Given the description of an element on the screen output the (x, y) to click on. 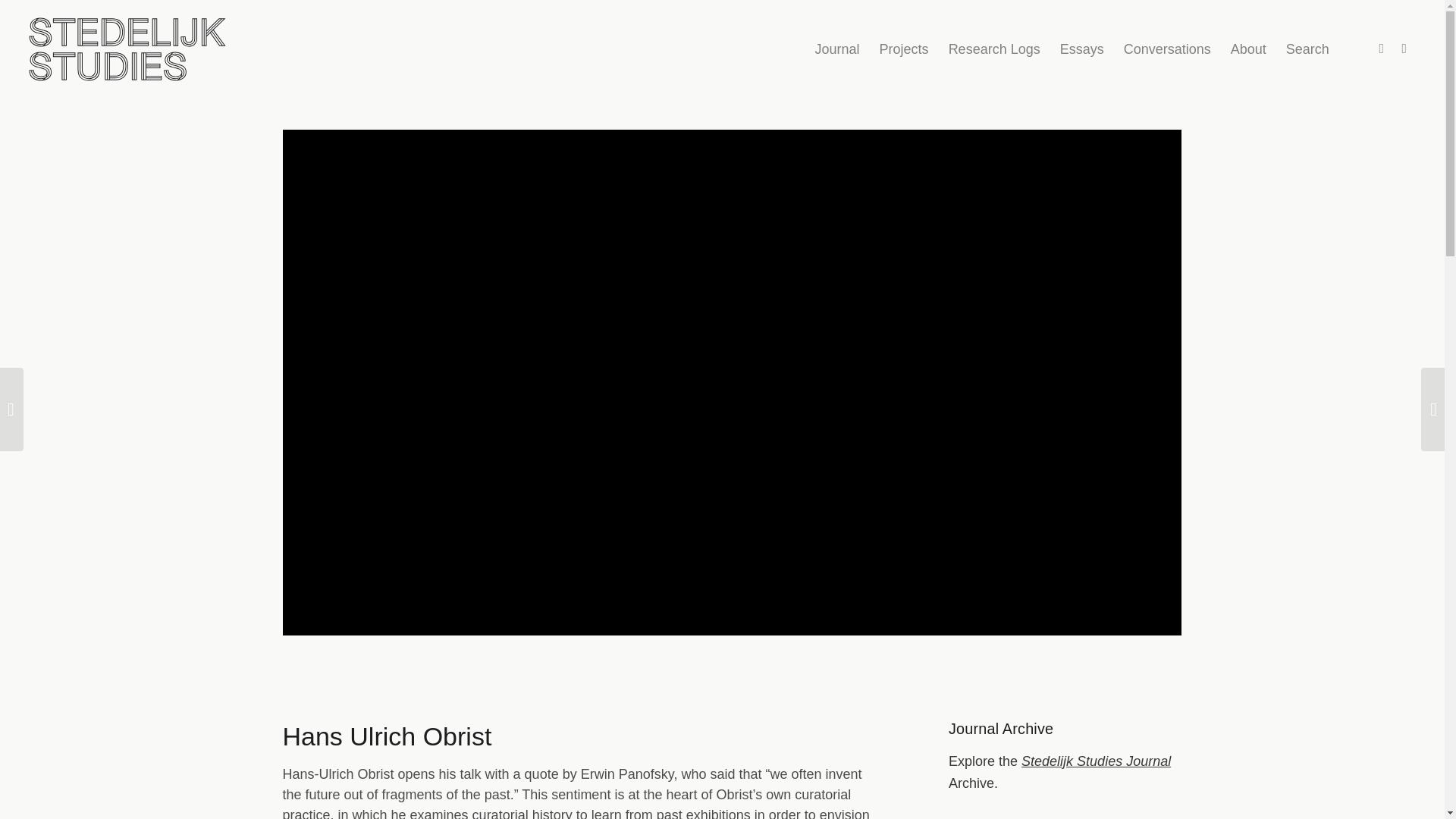
Search (1307, 49)
Stedelijk Studies (127, 49)
Projects (904, 49)
Journal (837, 49)
Essays (1081, 49)
Conversations (1167, 49)
Research Logs (994, 49)
About (1248, 49)
